Given the description of an element on the screen output the (x, y) to click on. 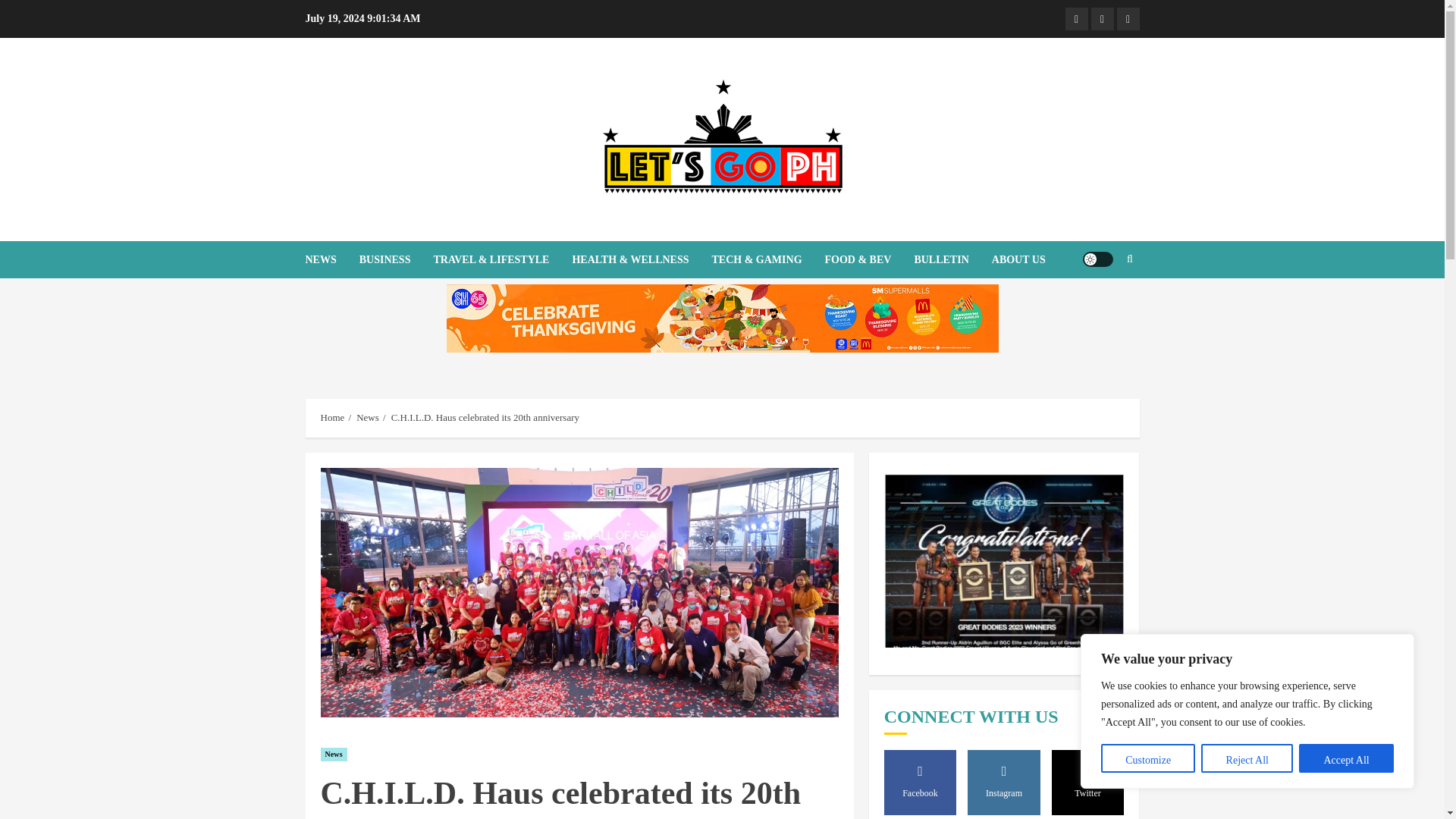
Twitter (1127, 18)
News (333, 754)
Facebook (1075, 18)
BULLETIN (952, 259)
Reject All (1246, 758)
Instagram (1101, 18)
News (367, 417)
BUSINESS (396, 259)
ABOUT US (1018, 259)
Search (1099, 305)
Accept All (1345, 758)
NEWS (331, 259)
Customize (1147, 758)
C.H.I.L.D. Haus celebrated its 20th anniversary (485, 417)
Home (331, 417)
